Given the description of an element on the screen output the (x, y) to click on. 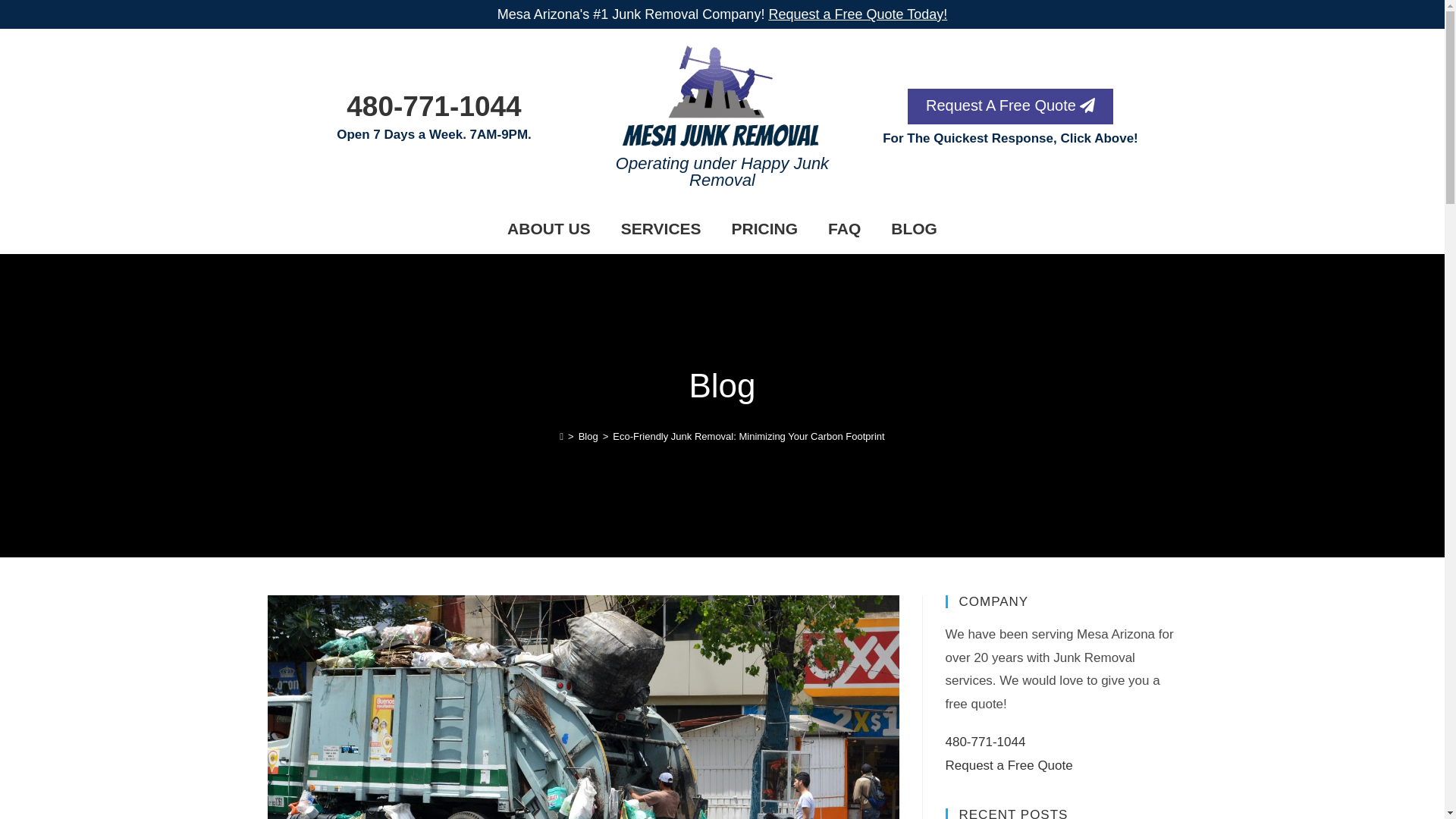
BLOG (914, 228)
Blog (588, 436)
ABOUT US (548, 228)
FAQ (844, 228)
Eco-Friendly Junk Removal: Minimizing Your Carbon Footprint (747, 436)
PRICING (764, 228)
480-771-1044 (433, 106)
Request A Free Quote (1010, 105)
SERVICES (660, 228)
